Given the description of an element on the screen output the (x, y) to click on. 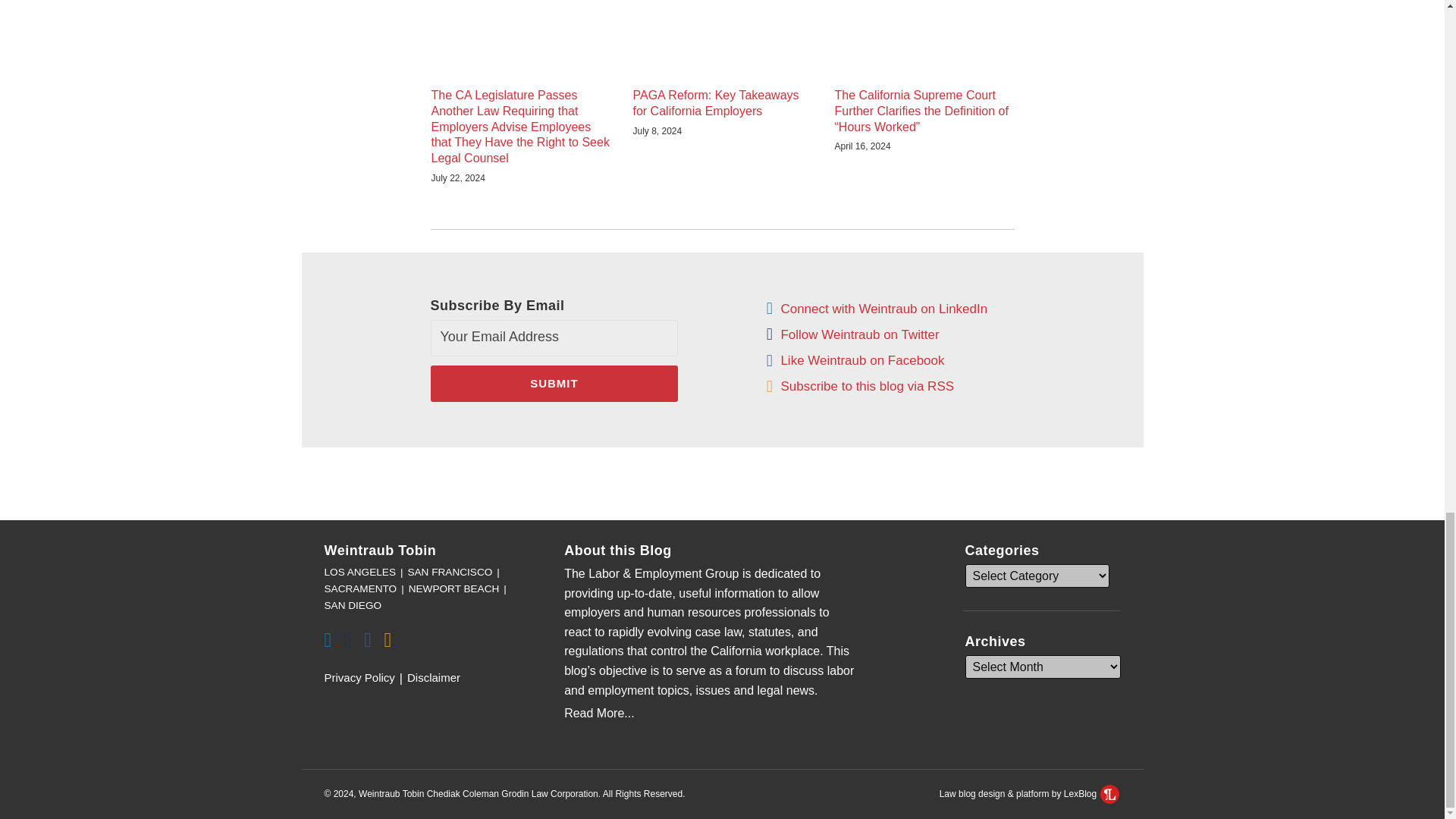
Connect with Weintraub on LinkedIn (883, 308)
LexBlog Logo (1109, 793)
Submit (554, 383)
Submit (554, 383)
Follow Weintraub on Twitter (859, 334)
PAGA Reform: Key Takeaways for California Employers (720, 103)
